Given the description of an element on the screen output the (x, y) to click on. 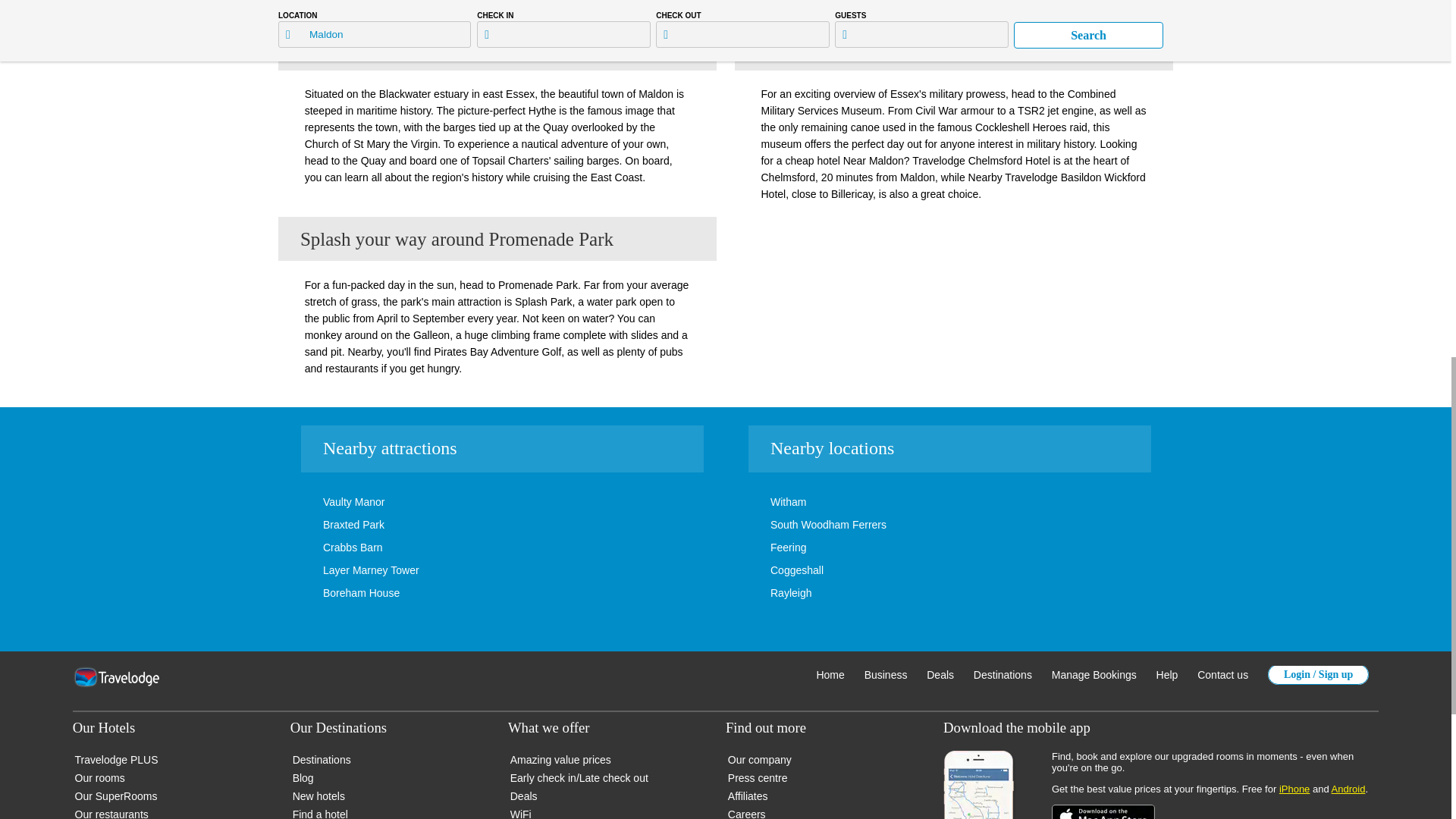
Braxted Park (331, 524)
South Woodham Ferrers (805, 524)
Coggeshall (774, 570)
Witham (765, 501)
Layer Marney Tower (348, 570)
Feering (765, 547)
Boreham House (338, 592)
Crabbs Barn (330, 547)
Rayleigh (767, 592)
Vaulty Manor (331, 501)
